Given the description of an element on the screen output the (x, y) to click on. 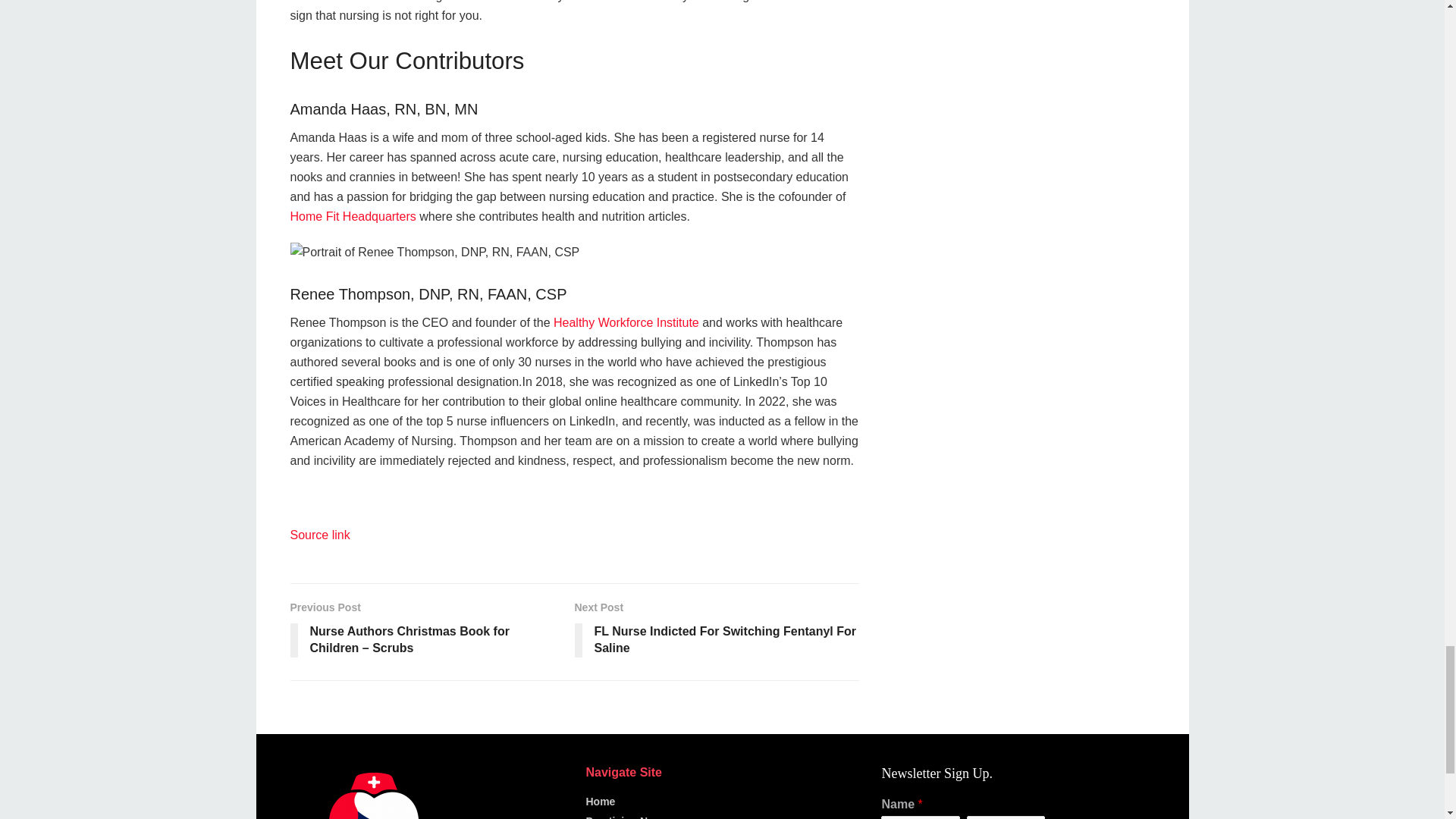
Nurses white (373, 791)
Home Fit Headquarters (351, 215)
Healthy Workforce Institute (625, 322)
Source link (319, 534)
